Given the description of an element on the screen output the (x, y) to click on. 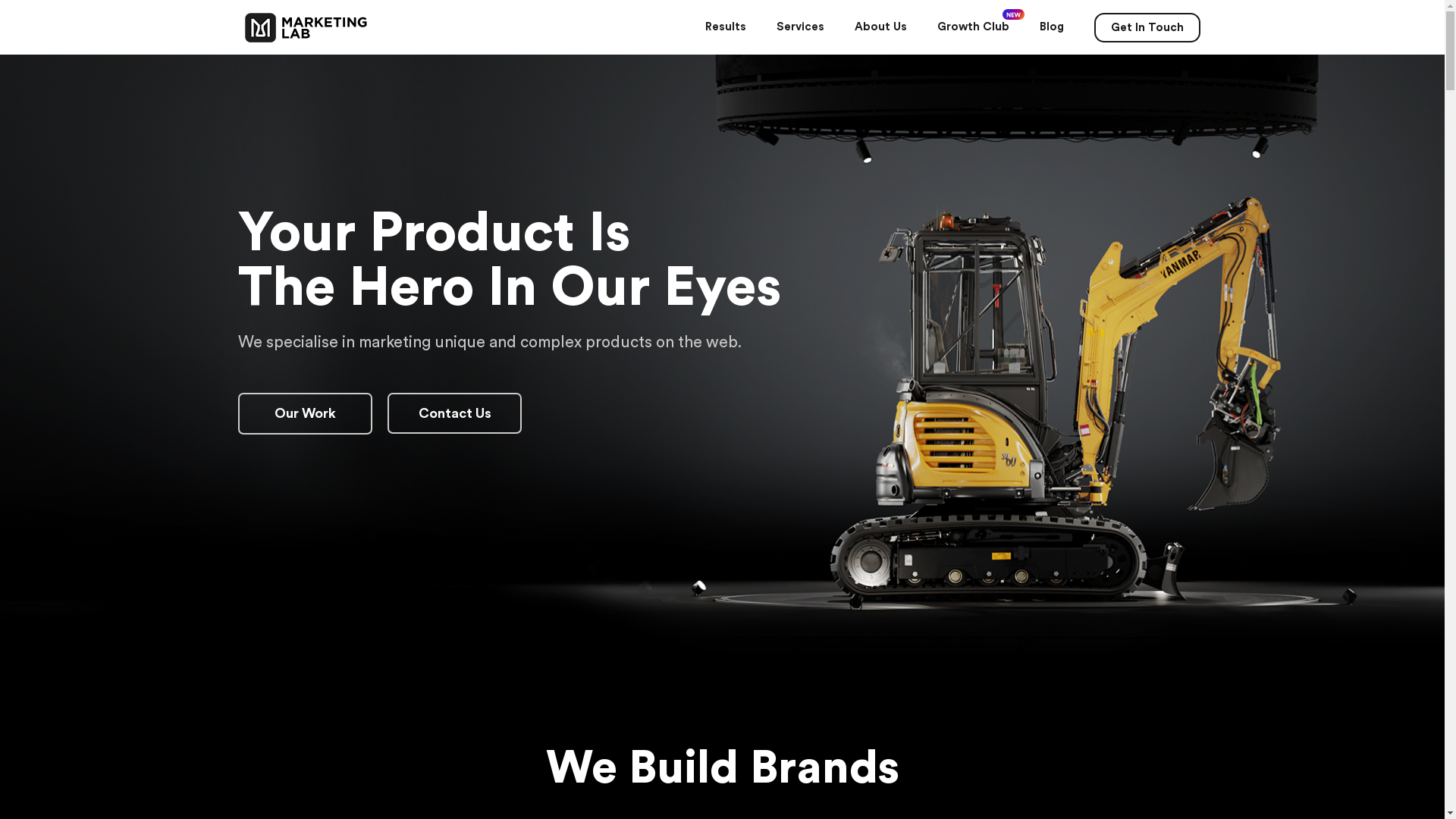
About Us Element type: text (879, 26)
Contact Us Element type: text (454, 412)
Get In Touch Element type: text (1146, 26)
Our Work Element type: text (305, 413)
Growth Club Element type: text (973, 26)
Blog Element type: text (1050, 26)
Results Element type: text (725, 26)
Services Element type: text (800, 26)
